Given the description of an element on the screen output the (x, y) to click on. 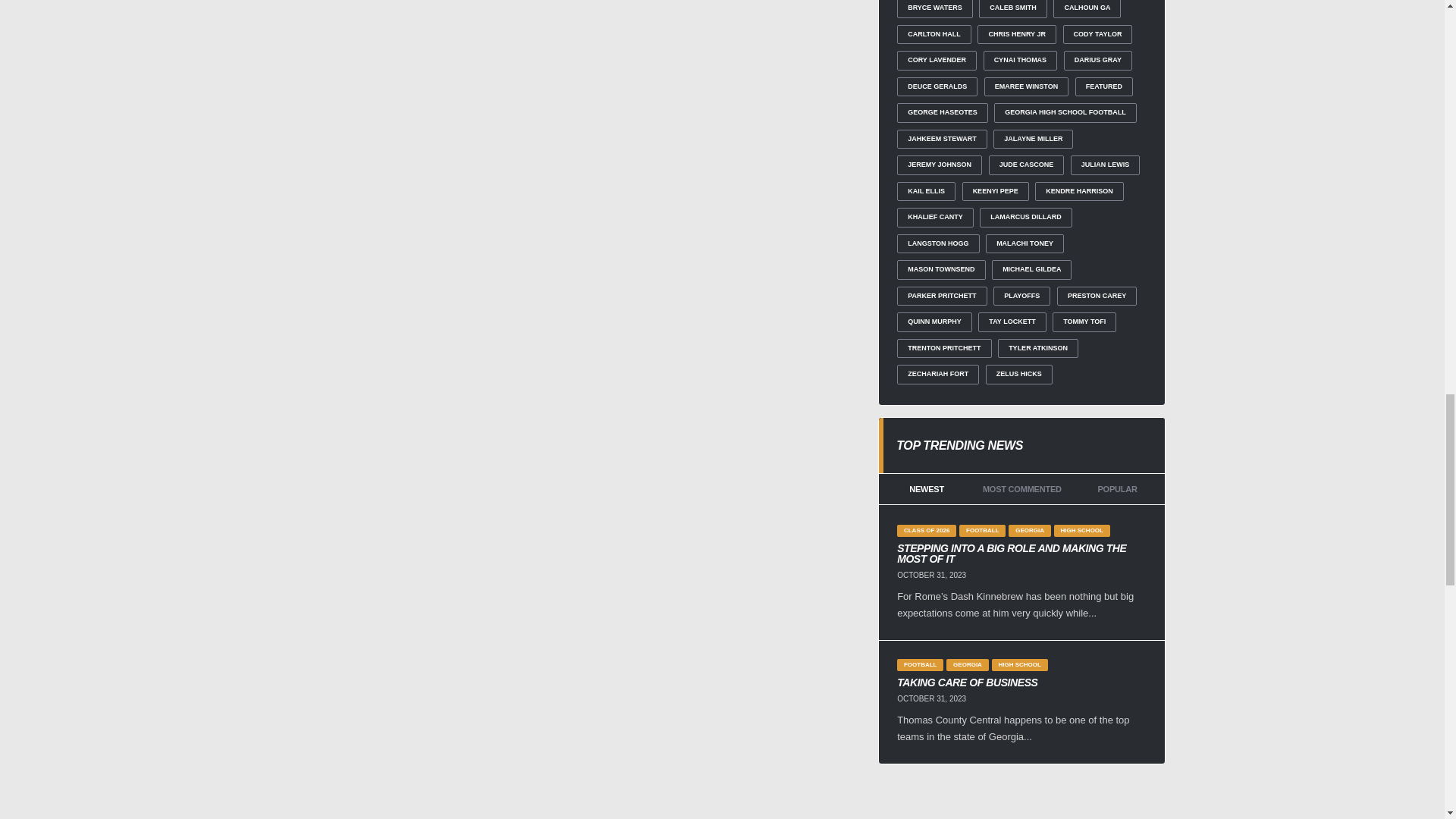
Stepping Into A Big Role And Making The Most Of It (1021, 553)
Taking Care Of Business (1021, 682)
